Given the description of an element on the screen output the (x, y) to click on. 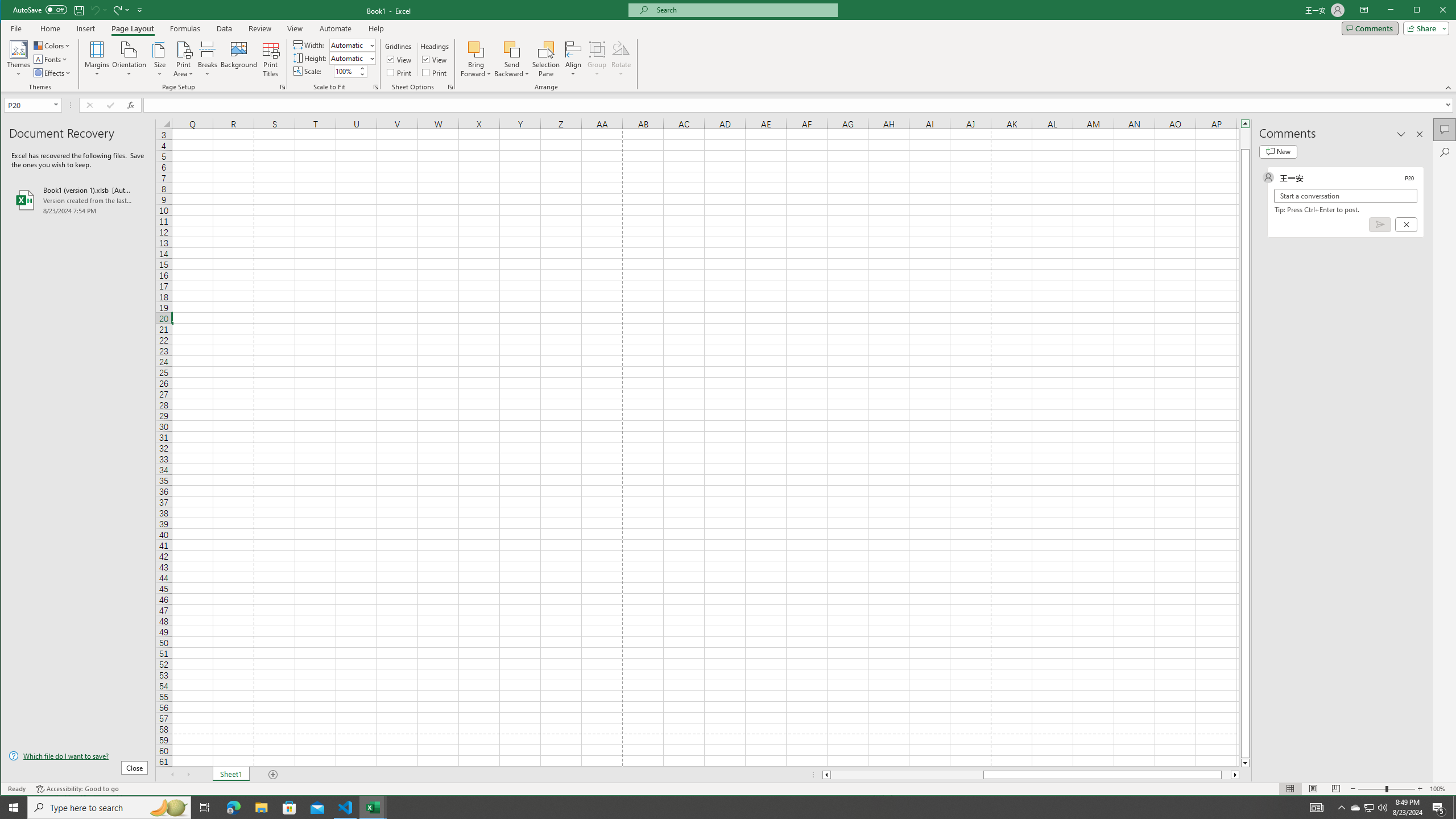
Notification Chevron (1341, 807)
Page Setup (375, 86)
Size (159, 59)
Search highlights icon opens search home window (167, 807)
